Given the description of an element on the screen output the (x, y) to click on. 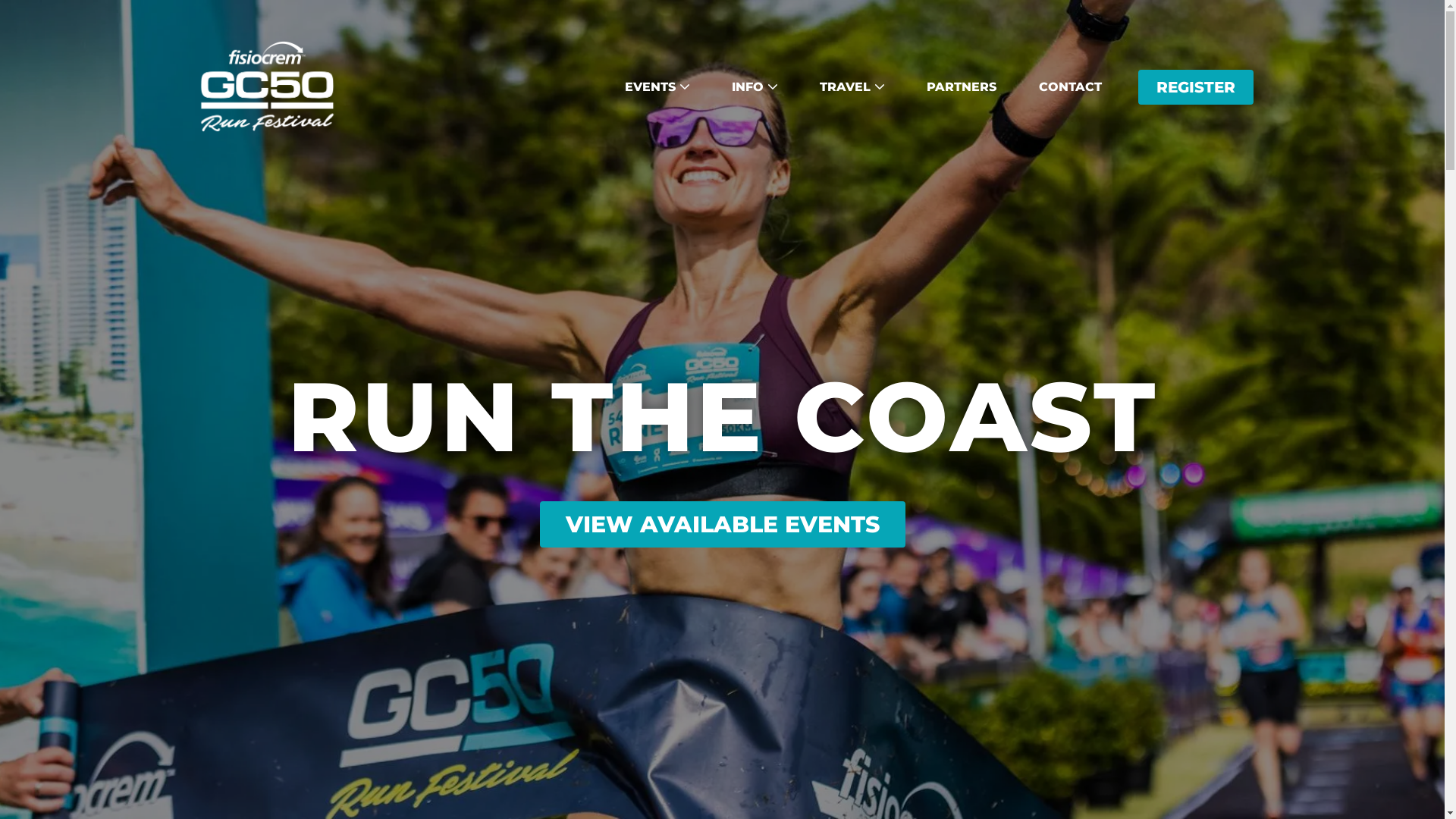
TRAVEL Element type: text (850, 86)
VIEW AVAILABLE EVENTS Element type: text (722, 523)
INFO Element type: text (753, 86)
CONTACT Element type: text (1070, 86)
EVENTS Element type: text (656, 86)
REGISTER Element type: text (1194, 86)
PARTNERS Element type: text (961, 86)
